Given the description of an element on the screen output the (x, y) to click on. 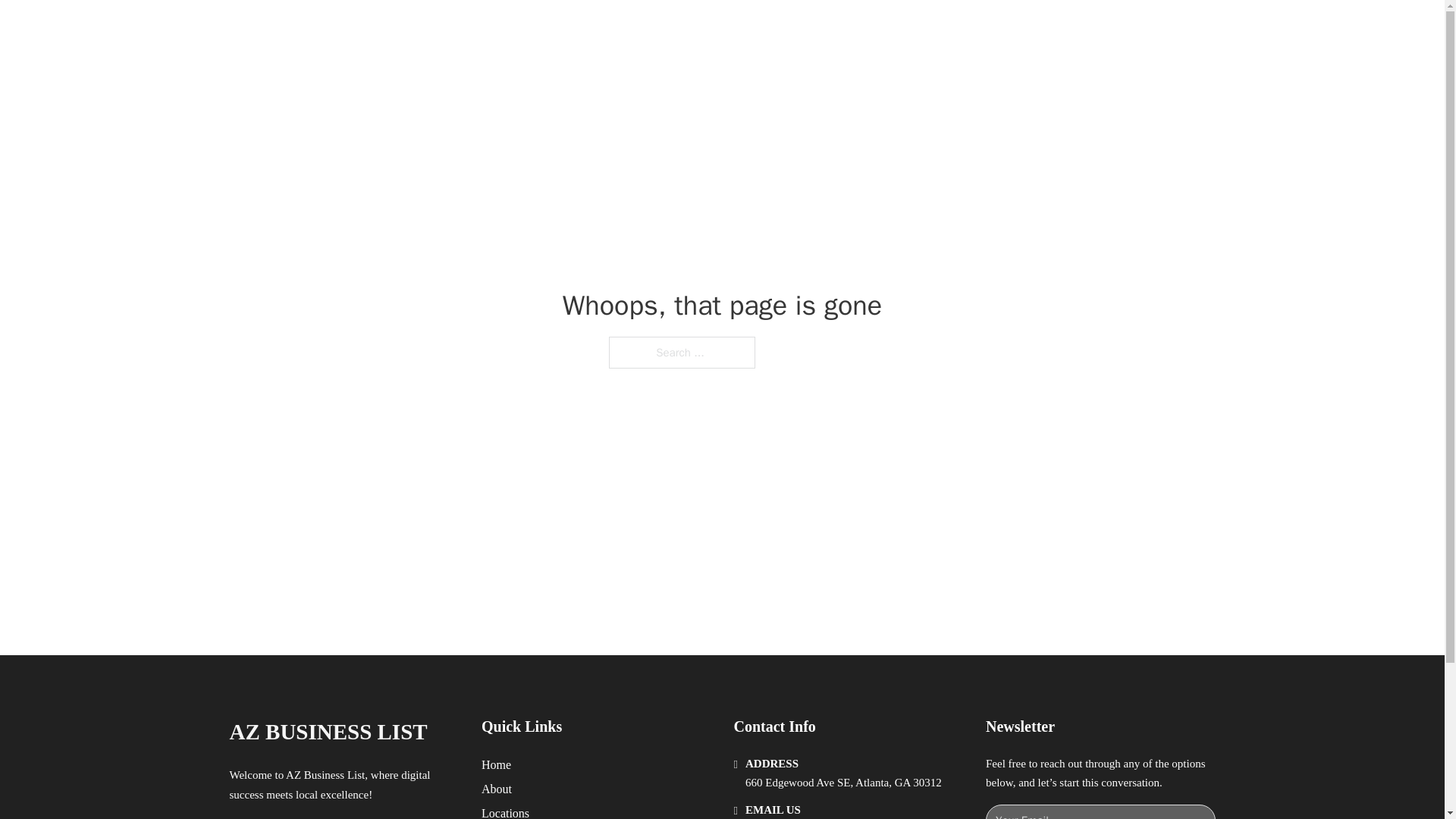
Home (496, 764)
AZ BUSINESS LIST (403, 28)
Locations (505, 811)
About (496, 788)
AZ BUSINESS LIST (327, 732)
HOME (919, 29)
LOCATIONS (990, 29)
